Given the description of an element on the screen output the (x, y) to click on. 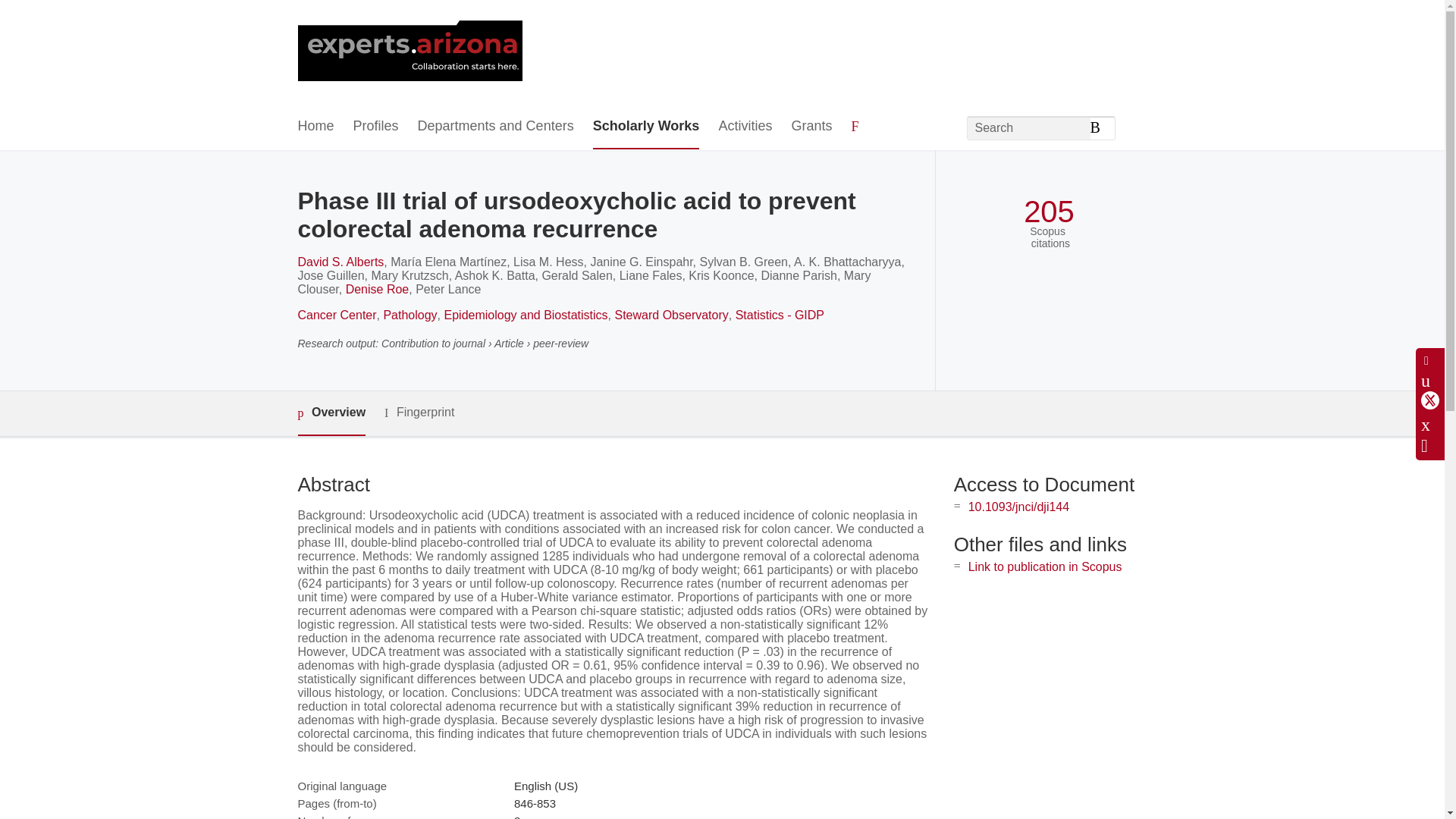
Statistics - GIDP (779, 314)
Pathology (409, 314)
Departments and Centers (495, 126)
Overview (331, 413)
Cancer Center (336, 314)
Activities (744, 126)
Denise Roe (377, 288)
Fingerprint (419, 412)
Epidemiology and Biostatistics (526, 314)
